Given the description of an element on the screen output the (x, y) to click on. 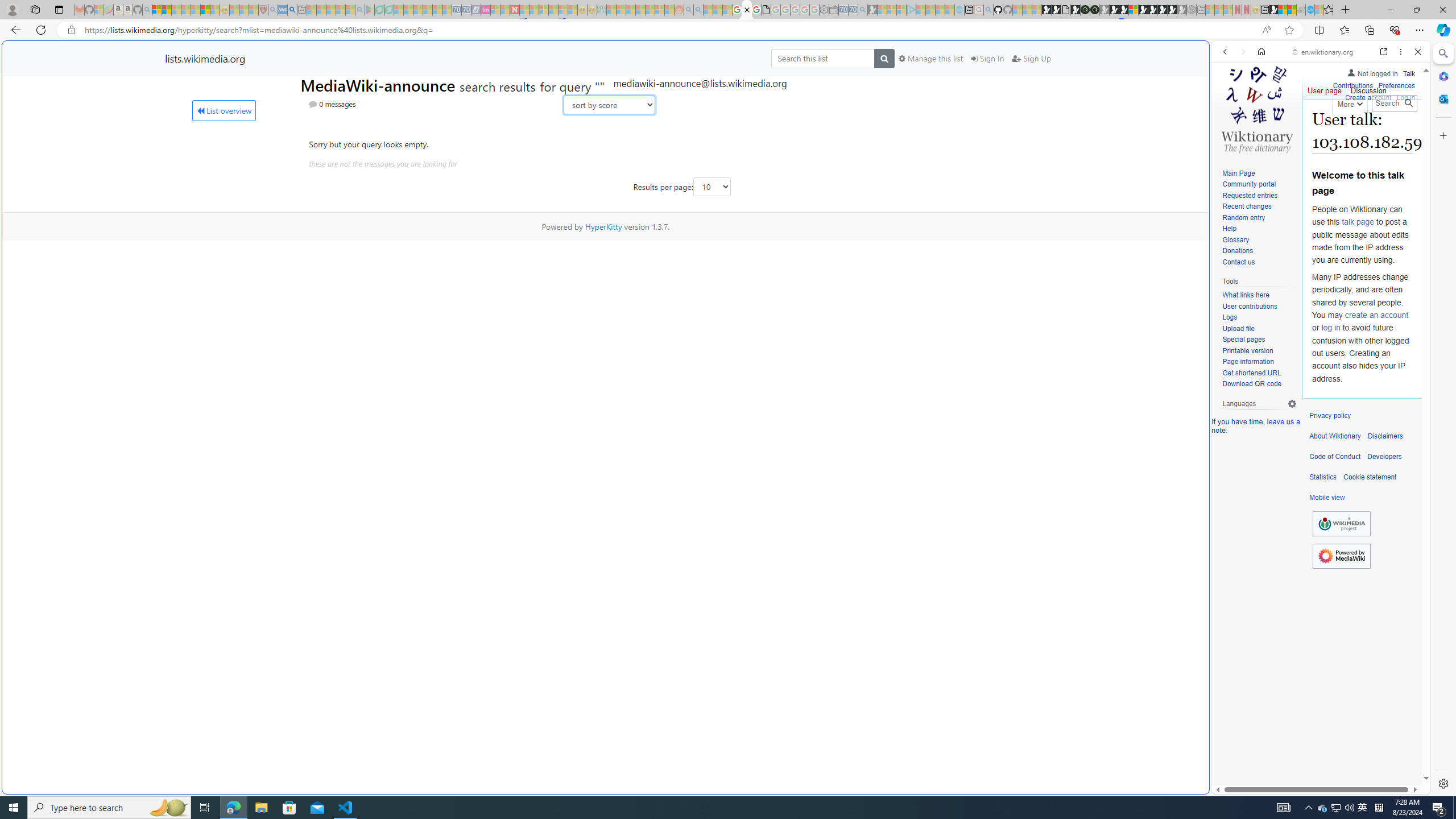
Glossary (1235, 239)
Developers (1384, 456)
Visit the main page (1257, 108)
Glossary (1259, 240)
Language settings (1292, 403)
User page (1324, 87)
